Given the description of an element on the screen output the (x, y) to click on. 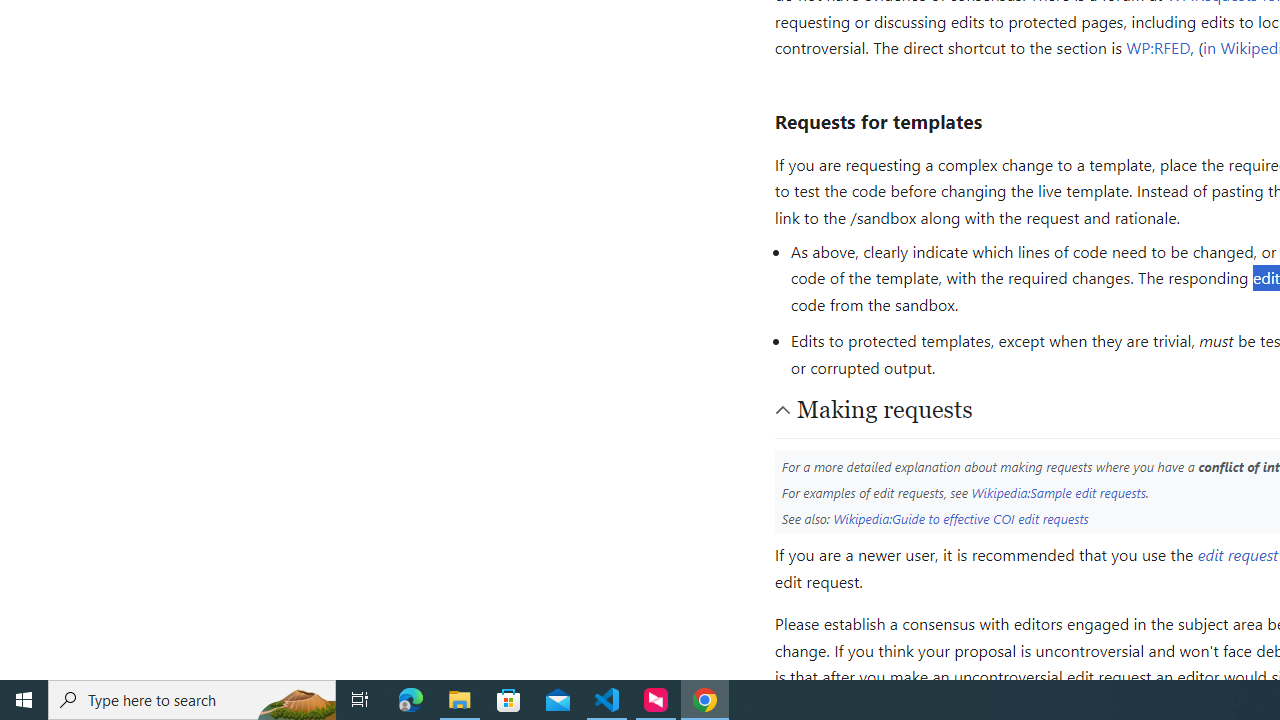
Wikipedia:Guide to effective COI edit requests (961, 518)
WP:RFED (1158, 47)
Wikipedia:Sample edit requests (1058, 492)
